Given the description of an element on the screen output the (x, y) to click on. 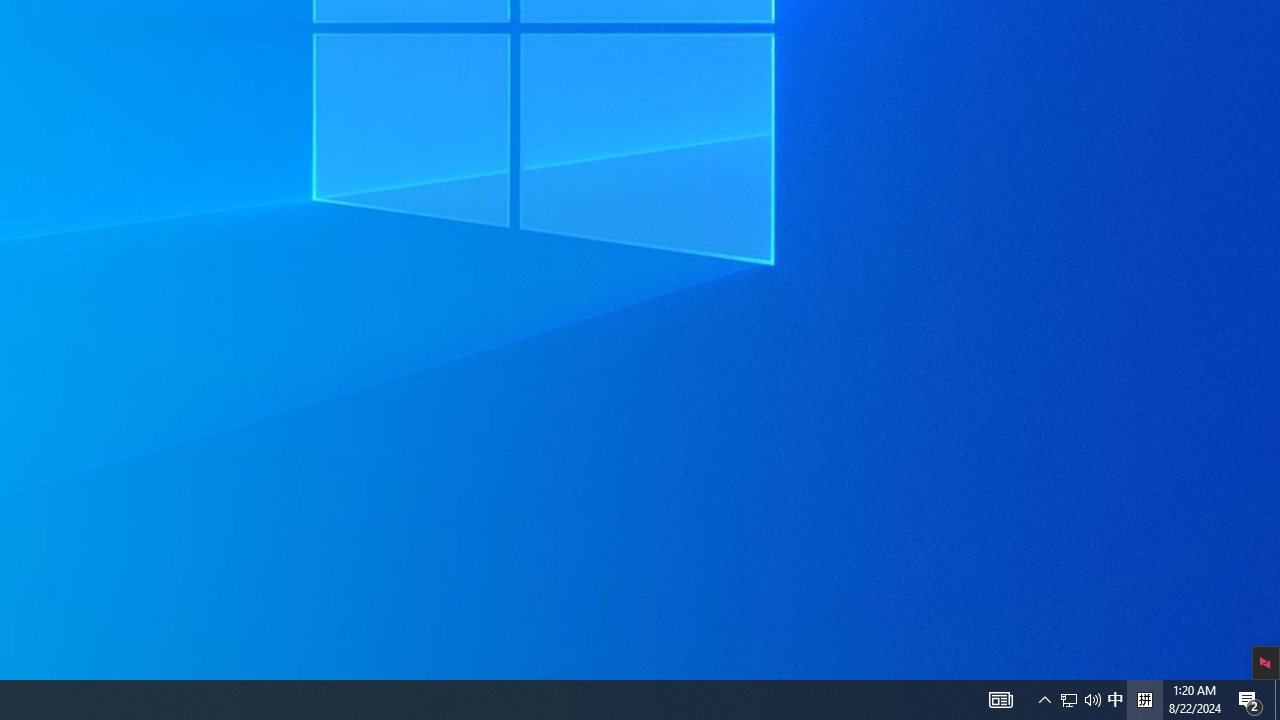
Tray Input Indicator - Chinese (Simplified, China) (1144, 699)
Action Center, 2 new notifications (1250, 699)
AutomationID: 4105 (1115, 699)
